Given the description of an element on the screen output the (x, y) to click on. 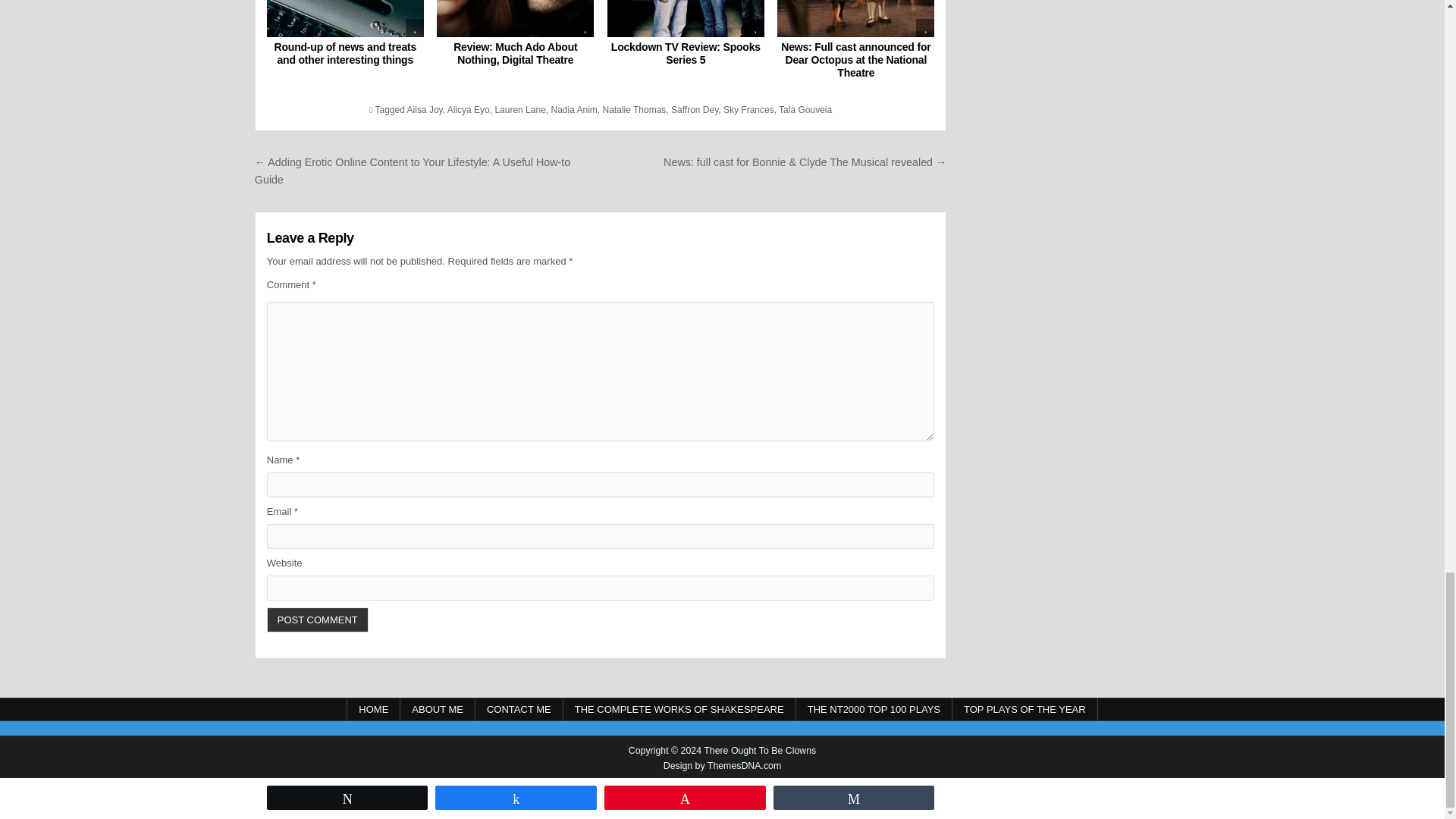
Post Comment (317, 619)
